Given the description of an element on the screen output the (x, y) to click on. 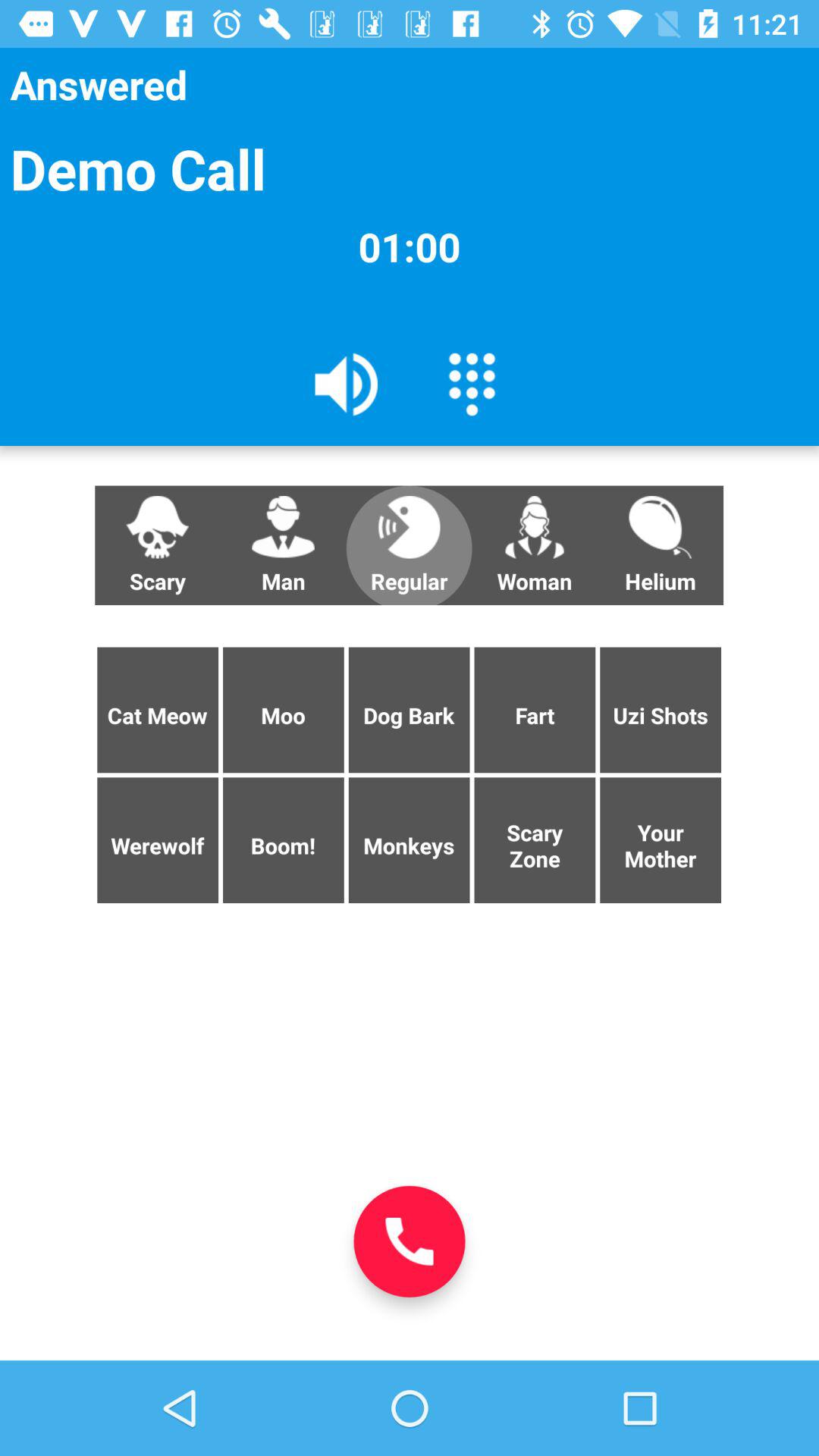
select the item below 01:00 app (472, 382)
